Given the description of an element on the screen output the (x, y) to click on. 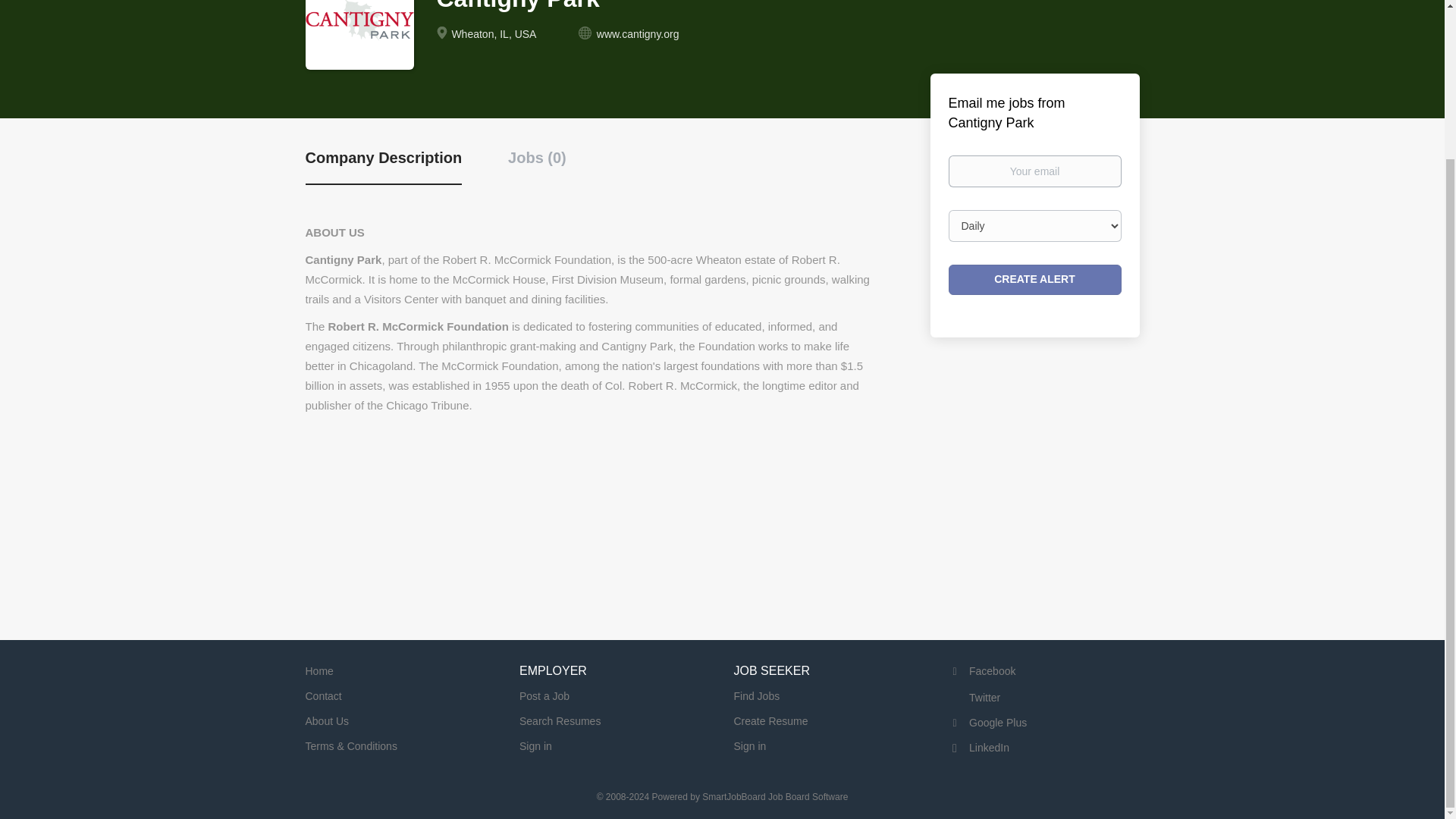
Job Board Software, Script (774, 796)
Contact (322, 695)
www.cantigny.org (637, 33)
Create alert (1034, 279)
About Us (326, 720)
Company Description (382, 166)
Sign in (535, 746)
Sign in (750, 746)
Search Resumes (559, 720)
Post a Job (544, 695)
Twitter (973, 697)
Home (318, 671)
Create alert (1034, 279)
Create Resume (770, 720)
Find Jobs (756, 695)
